Given the description of an element on the screen output the (x, y) to click on. 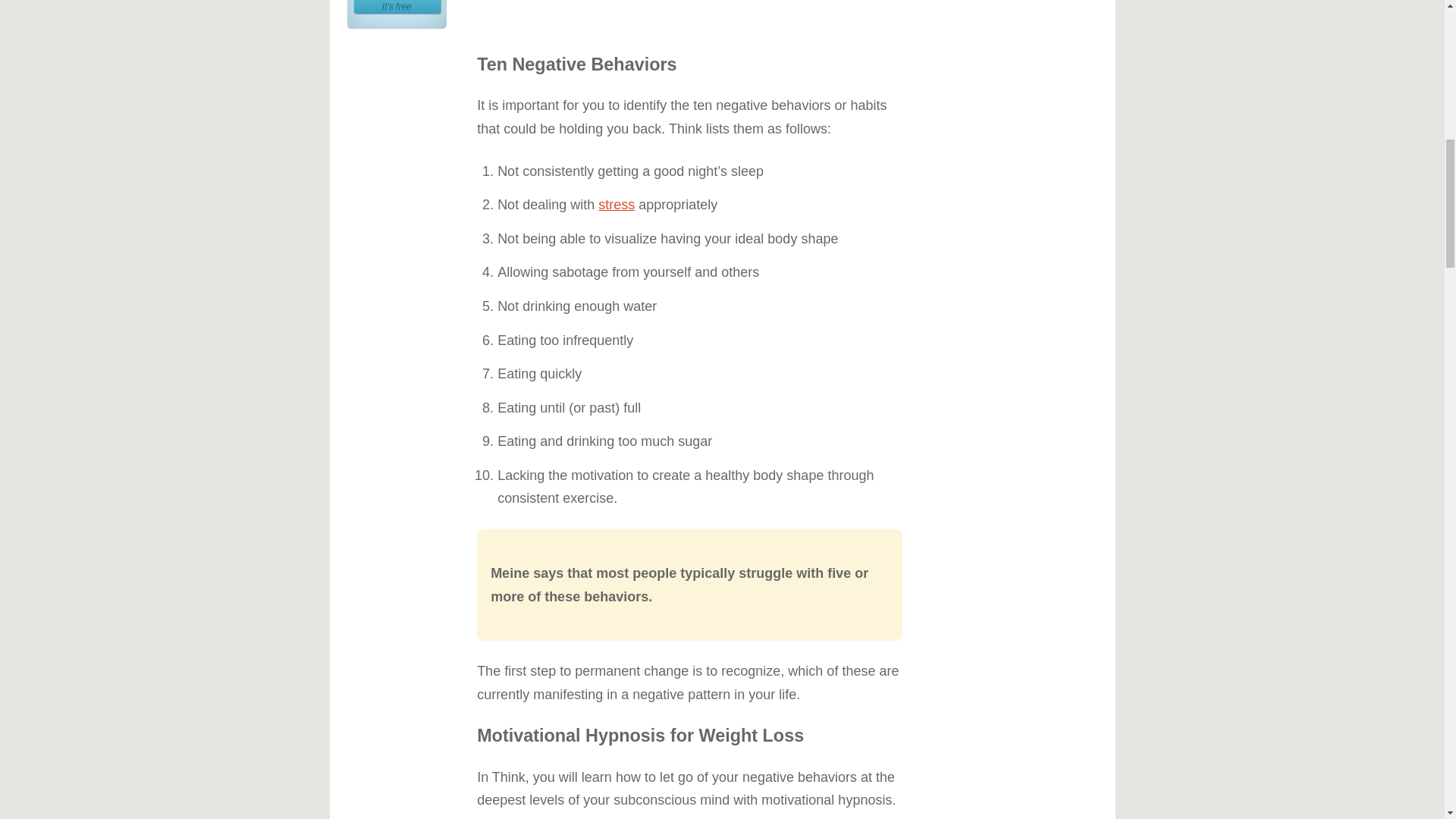
Advertisement (689, 12)
stress (397, 6)
Stress Eater Diet (616, 204)
